Given the description of an element on the screen output the (x, y) to click on. 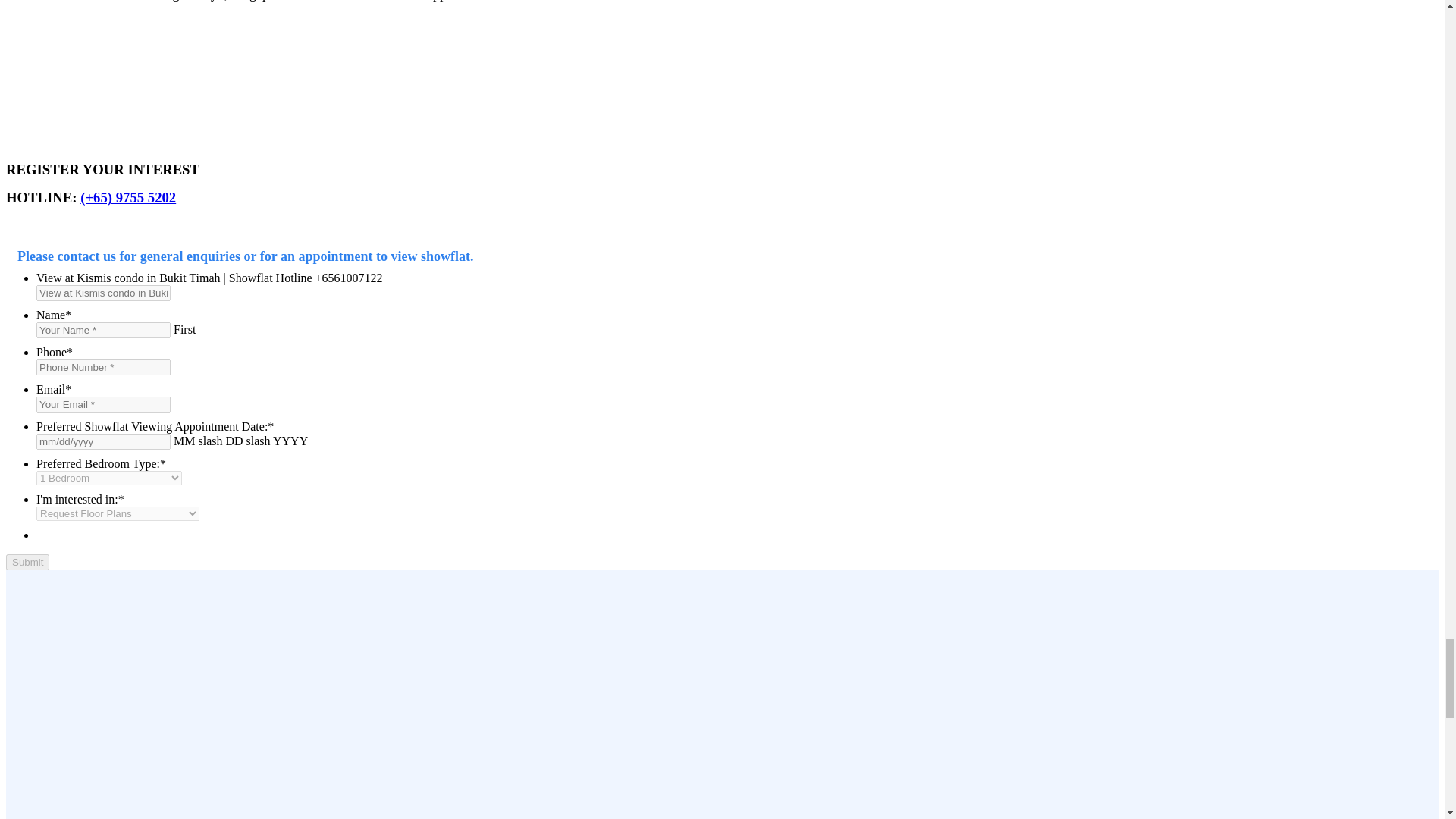
Submit (27, 562)
